Given the description of an element on the screen output the (x, y) to click on. 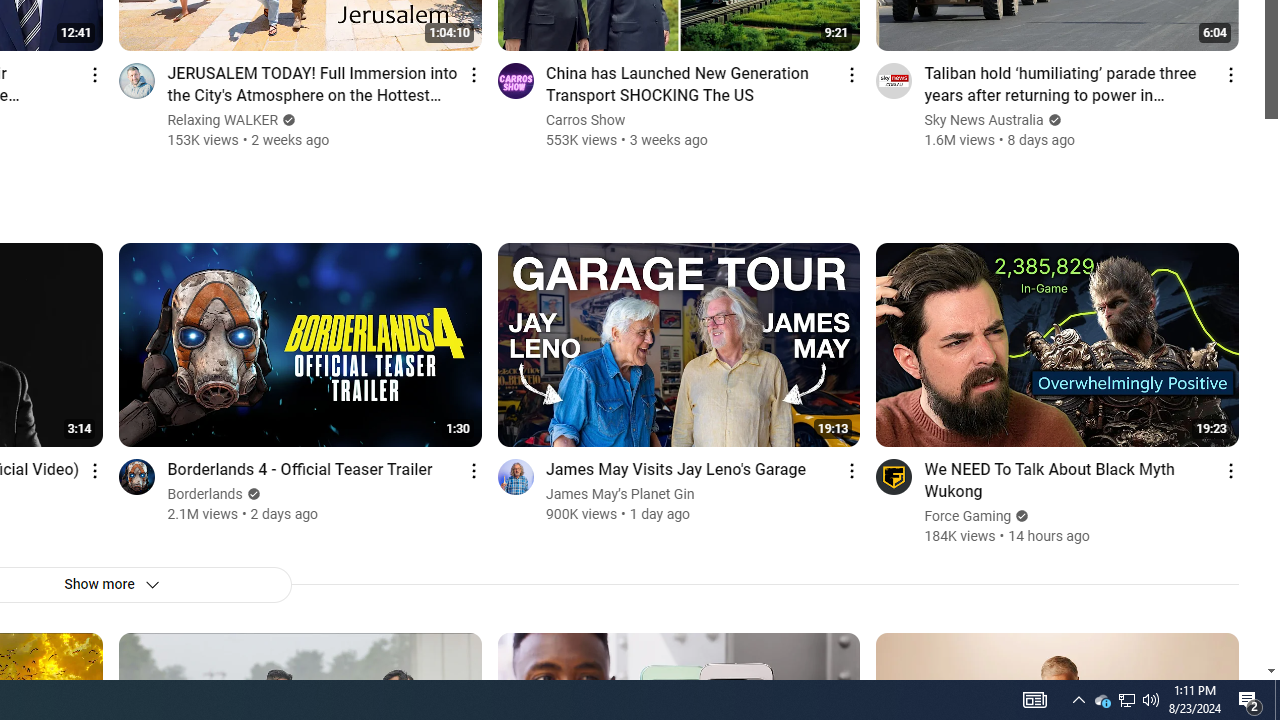
Action menu (1229, 470)
Sky News Australia (984, 120)
Force Gaming (968, 516)
Carros Show (586, 120)
Verified (1020, 516)
Relaxing WALKER (223, 120)
Borderlands (205, 493)
Go to channel (893, 476)
